Given the description of an element on the screen output the (x, y) to click on. 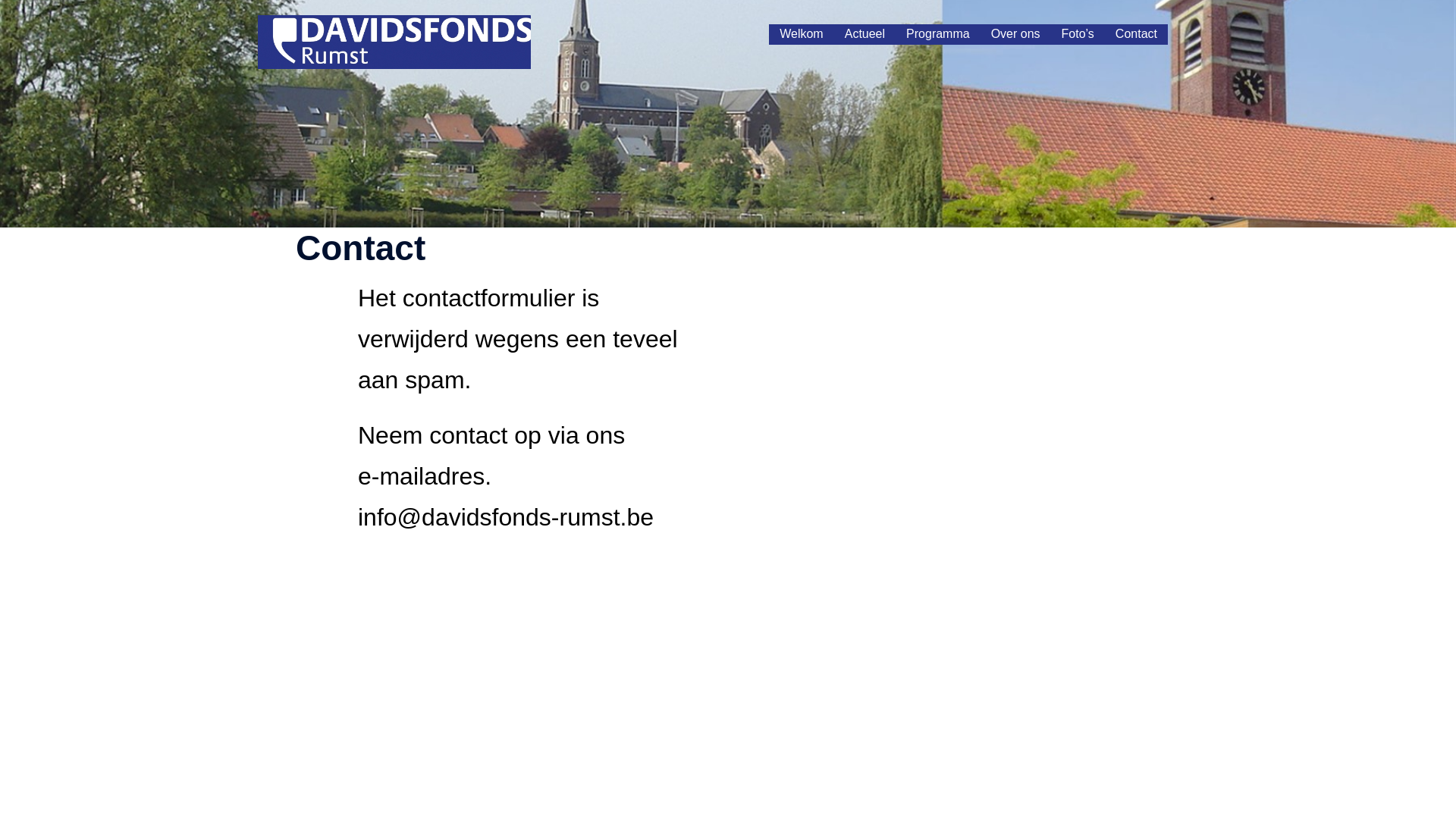
Programma Element type: text (937, 34)
Over ons Element type: text (1015, 34)
Welkom Element type: text (801, 34)
Contact Element type: text (1136, 34)
Actueel Element type: text (864, 34)
Davidsfonds Rumst Element type: hover (431, 40)
